Given the description of an element on the screen output the (x, y) to click on. 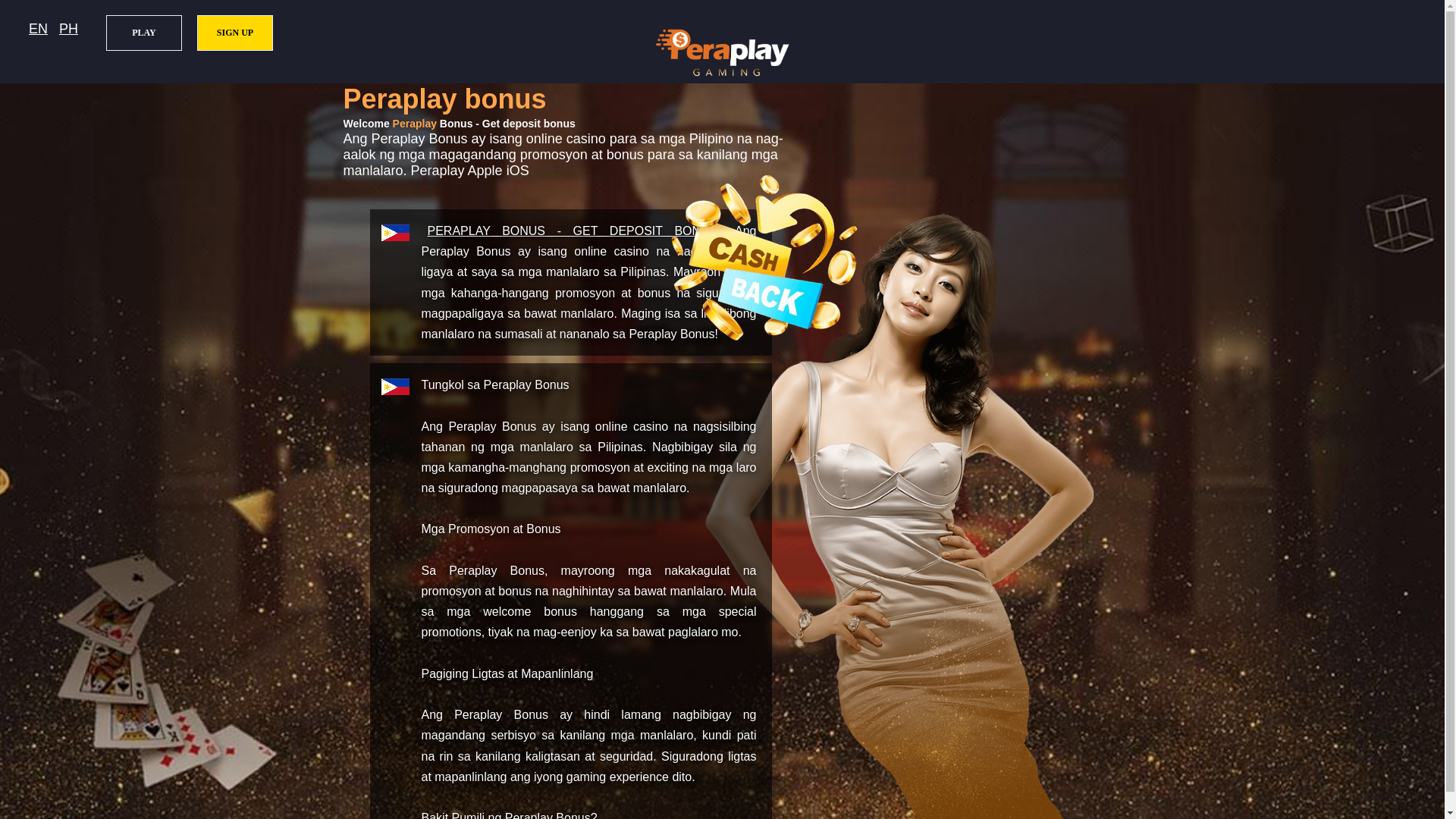
PLAY (144, 32)
PERAPLAY BONUS - GET DEPOSIT BONUS (572, 230)
Filipino (68, 28)
Peraplay Bonus - Get deposit bonus Logo (721, 52)
SIGN UP (234, 32)
EN (38, 28)
English (38, 28)
PH (68, 28)
Peraplay Bonus - Get deposit bonus (572, 230)
